Given the description of an element on the screen output the (x, y) to click on. 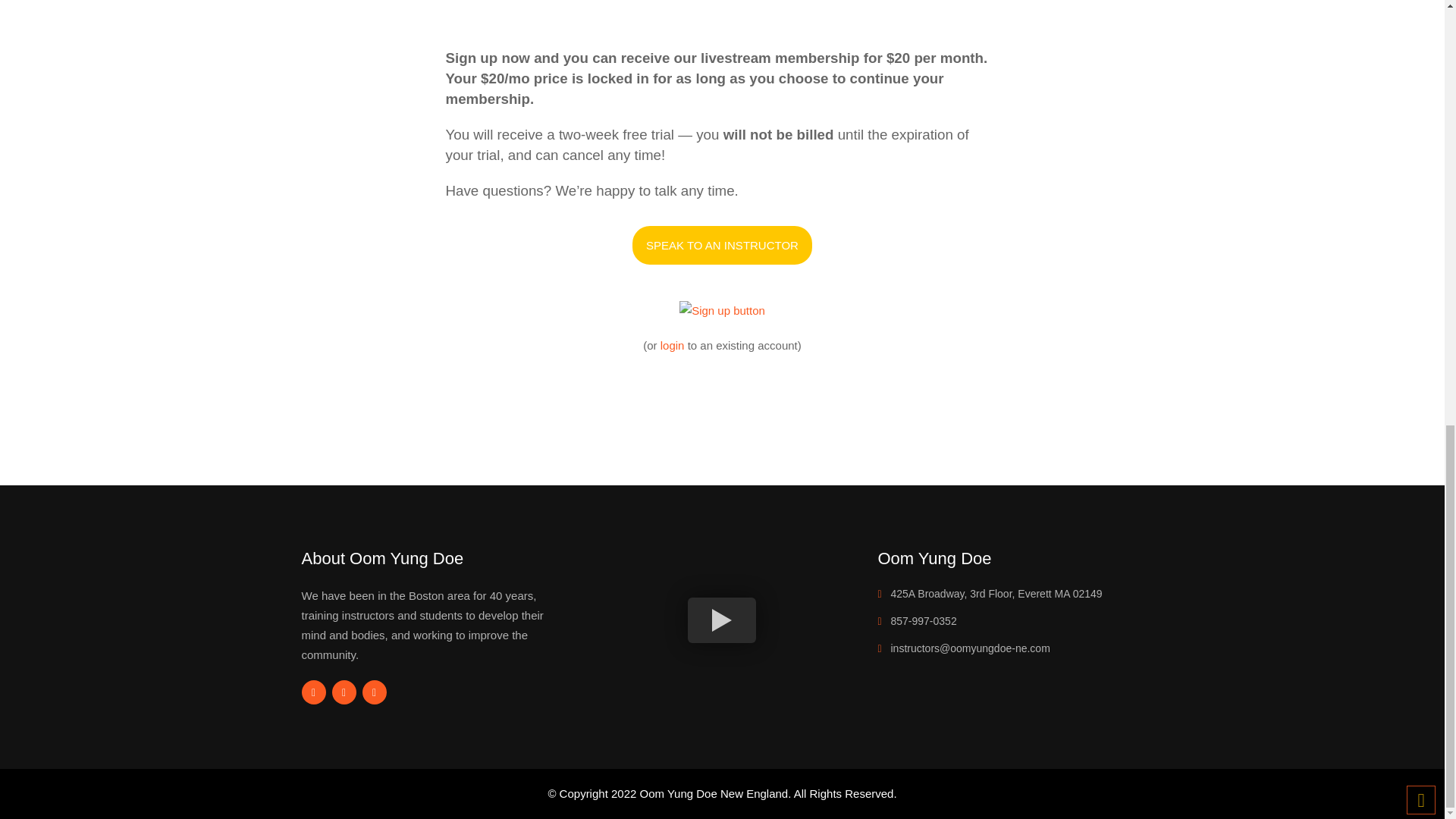
login (672, 345)
SPEAK TO AN INSTRUCTOR (721, 245)
857-997-0352 (922, 621)
